Given the description of an element on the screen output the (x, y) to click on. 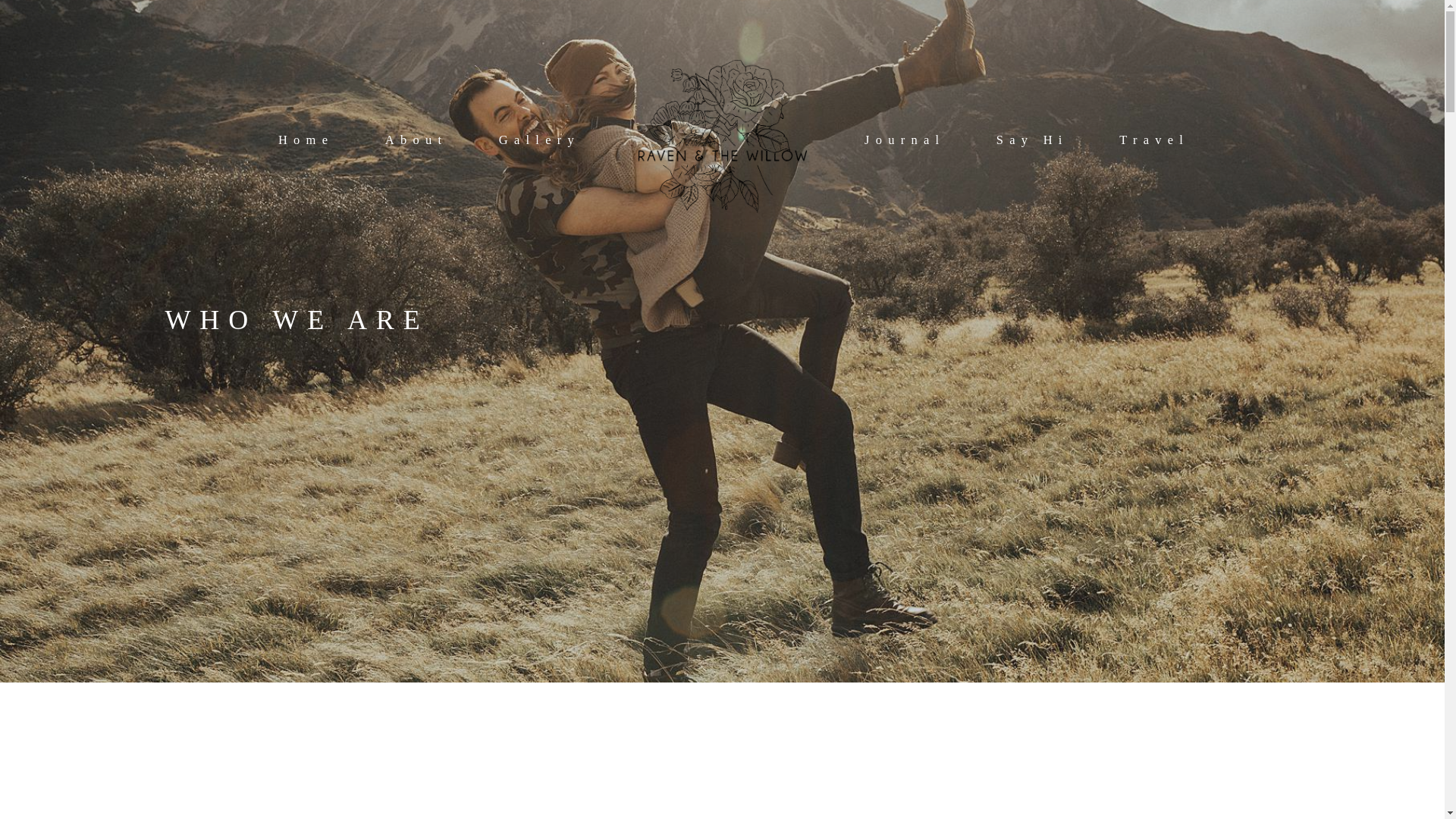
Gallery (539, 139)
Home (305, 139)
About (416, 139)
Travel (1154, 139)
Journal (904, 139)
Say Hi (1031, 139)
